Given the description of an element on the screen output the (x, y) to click on. 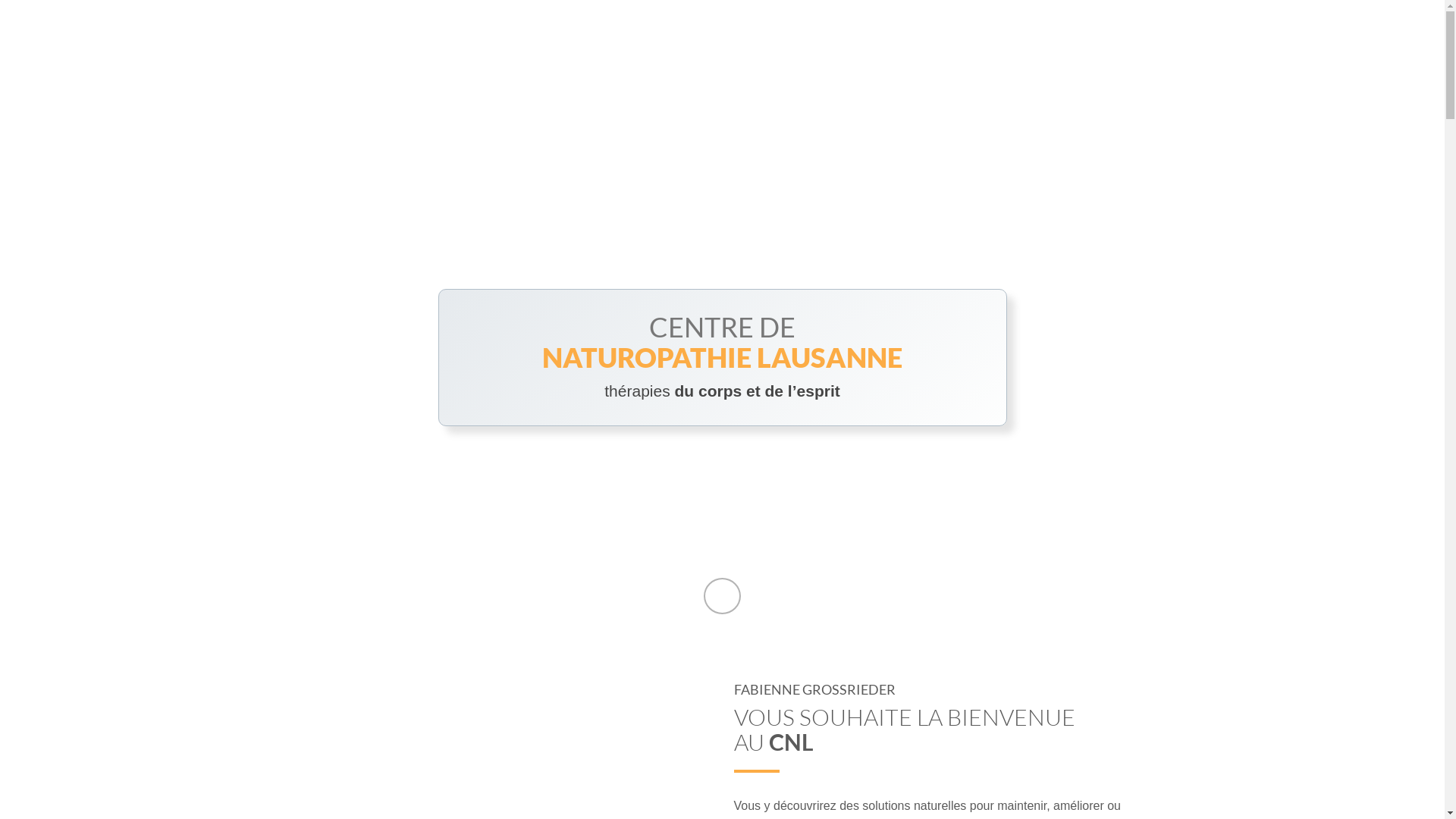
BIENVENUE Element type: text (715, 34)
ARTICLES Element type: text (1058, 34)
CNL NATUROPATHIE Element type: text (371, 34)
RESSOURCES Element type: text (977, 34)
CONTACT Element type: text (1130, 34)
